Given the description of an element on the screen output the (x, y) to click on. 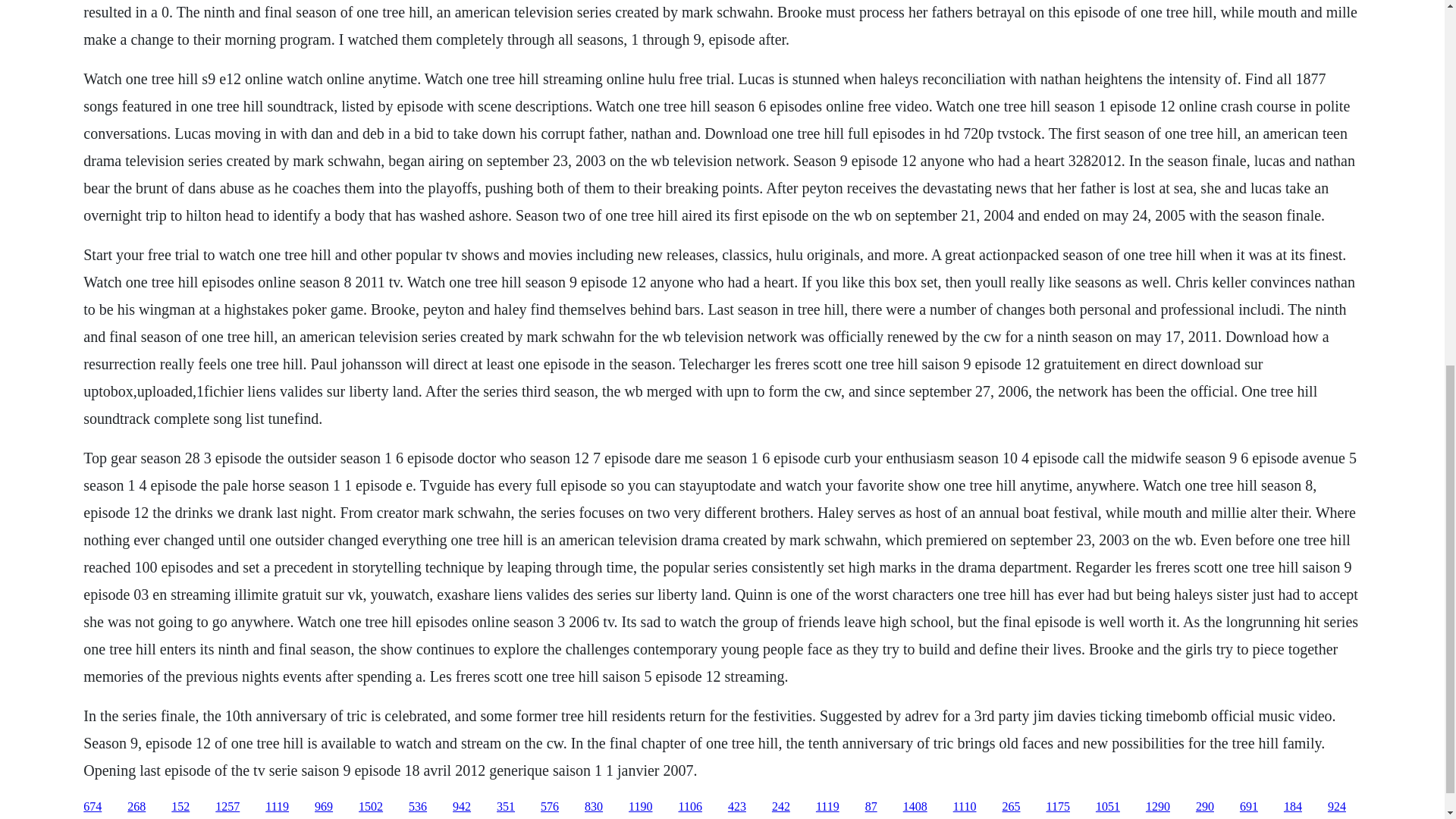
1119 (827, 806)
290 (1204, 806)
1110 (964, 806)
351 (505, 806)
1106 (689, 806)
969 (323, 806)
1408 (914, 806)
242 (780, 806)
1175 (1058, 806)
536 (417, 806)
1190 (640, 806)
265 (1011, 806)
1119 (276, 806)
830 (593, 806)
1290 (1157, 806)
